Given the description of an element on the screen output the (x, y) to click on. 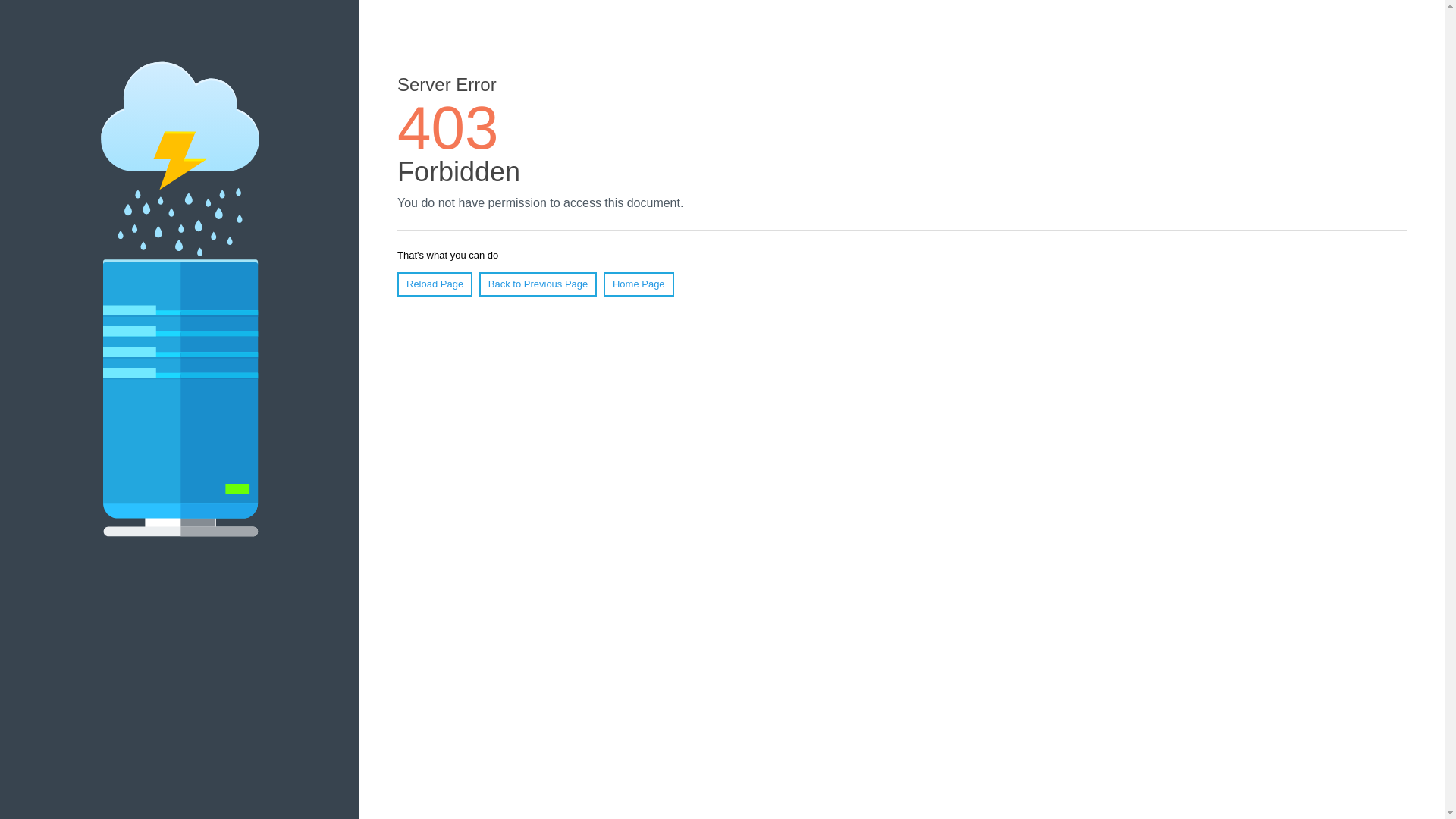
Back to Previous Page (537, 283)
Reload Page (434, 283)
Home Page (639, 283)
